Given the description of an element on the screen output the (x, y) to click on. 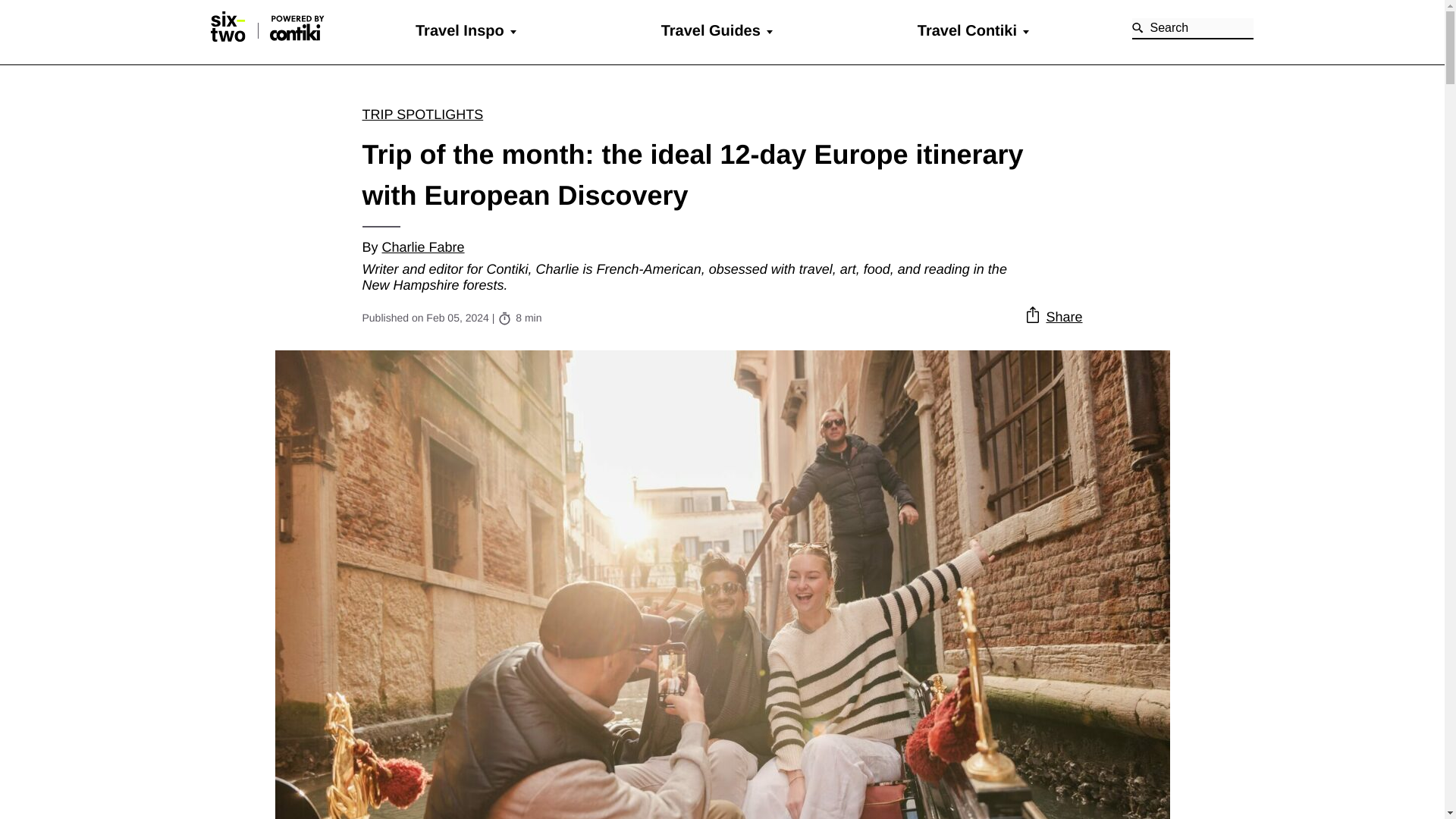
Travel Guides (710, 30)
Travel Contiki (966, 30)
Travel Inspo (458, 30)
